Given the description of an element on the screen output the (x, y) to click on. 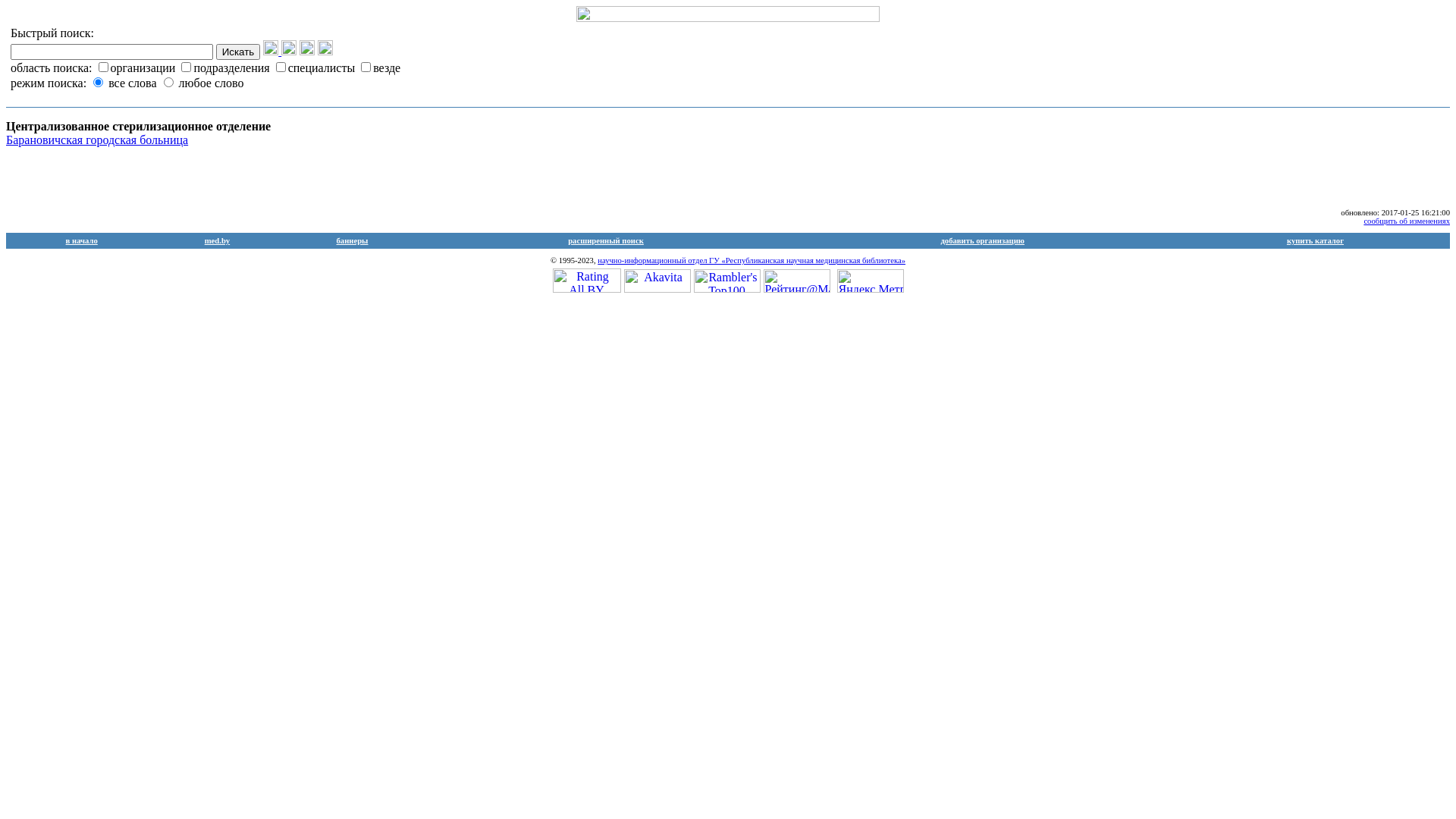
med.by Element type: text (216, 240)
on Element type: text (103, 67)
on Element type: text (186, 67)
on Element type: text (280, 67)
on Element type: text (365, 67)
